Given the description of an element on the screen output the (x, y) to click on. 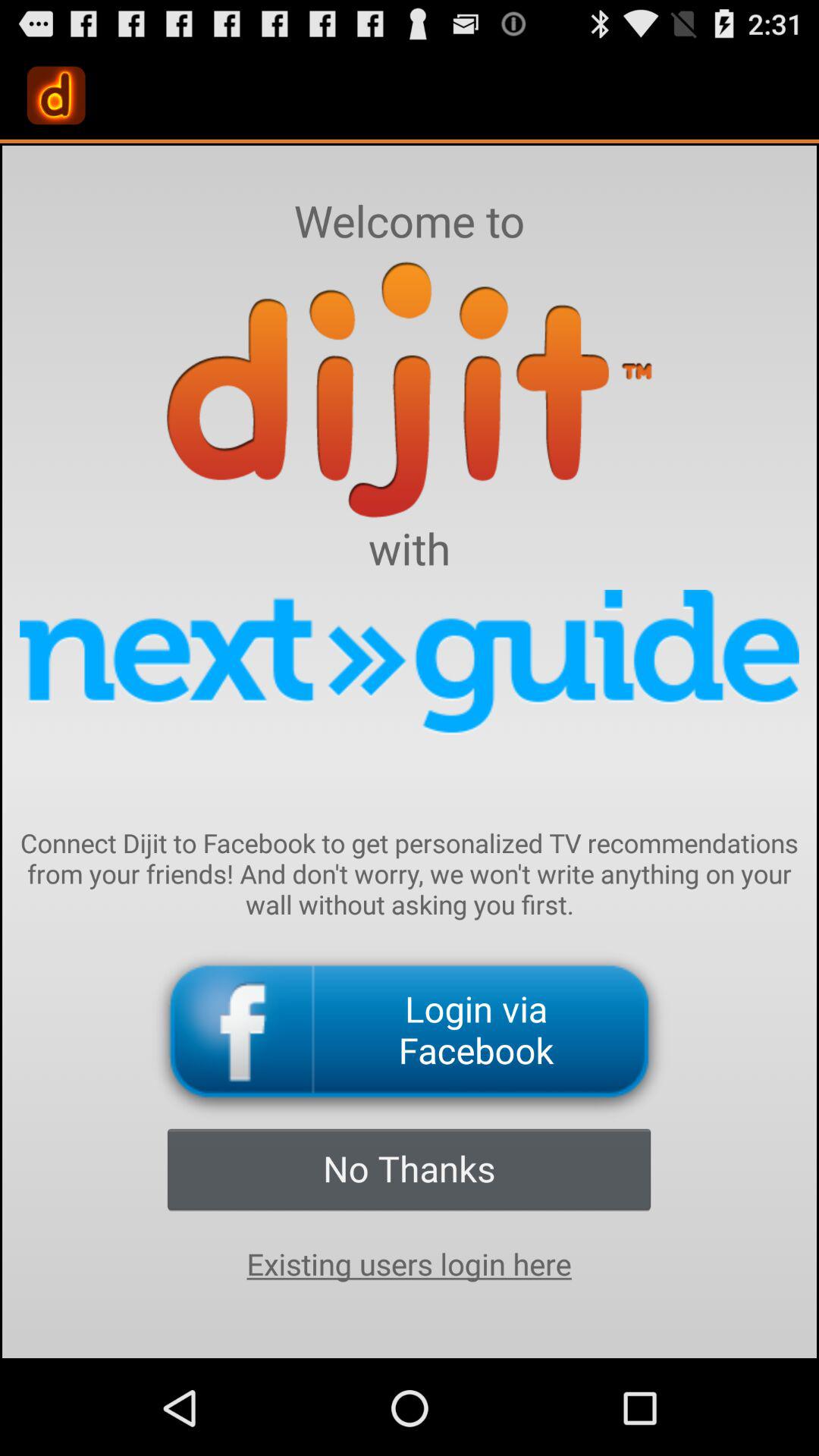
swipe until no thanks button (409, 1168)
